Given the description of an element on the screen output the (x, y) to click on. 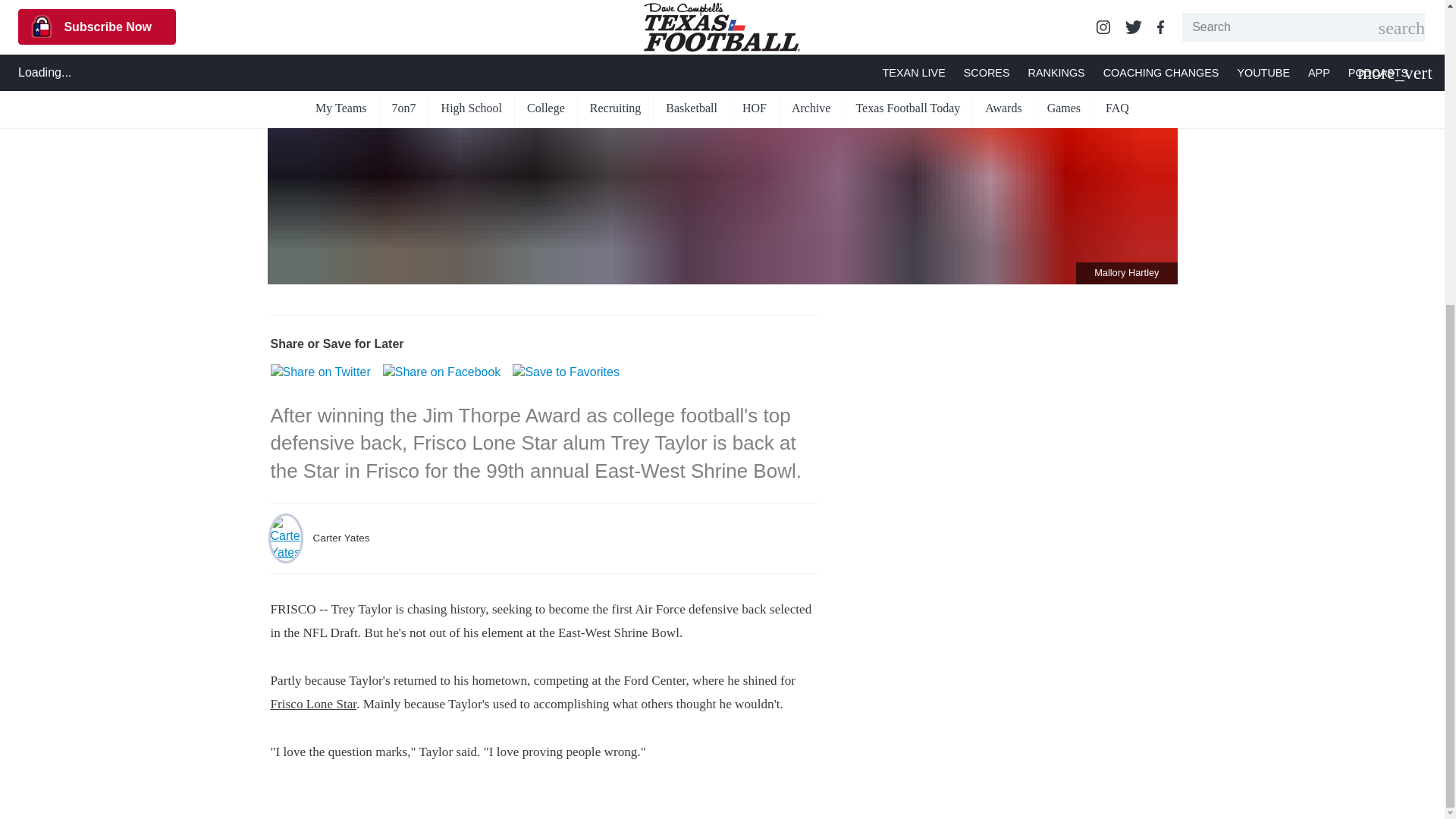
Save to Your Favorites (566, 371)
Share on Twitter (319, 371)
Share on Facebook (441, 371)
